Given the description of an element on the screen output the (x, y) to click on. 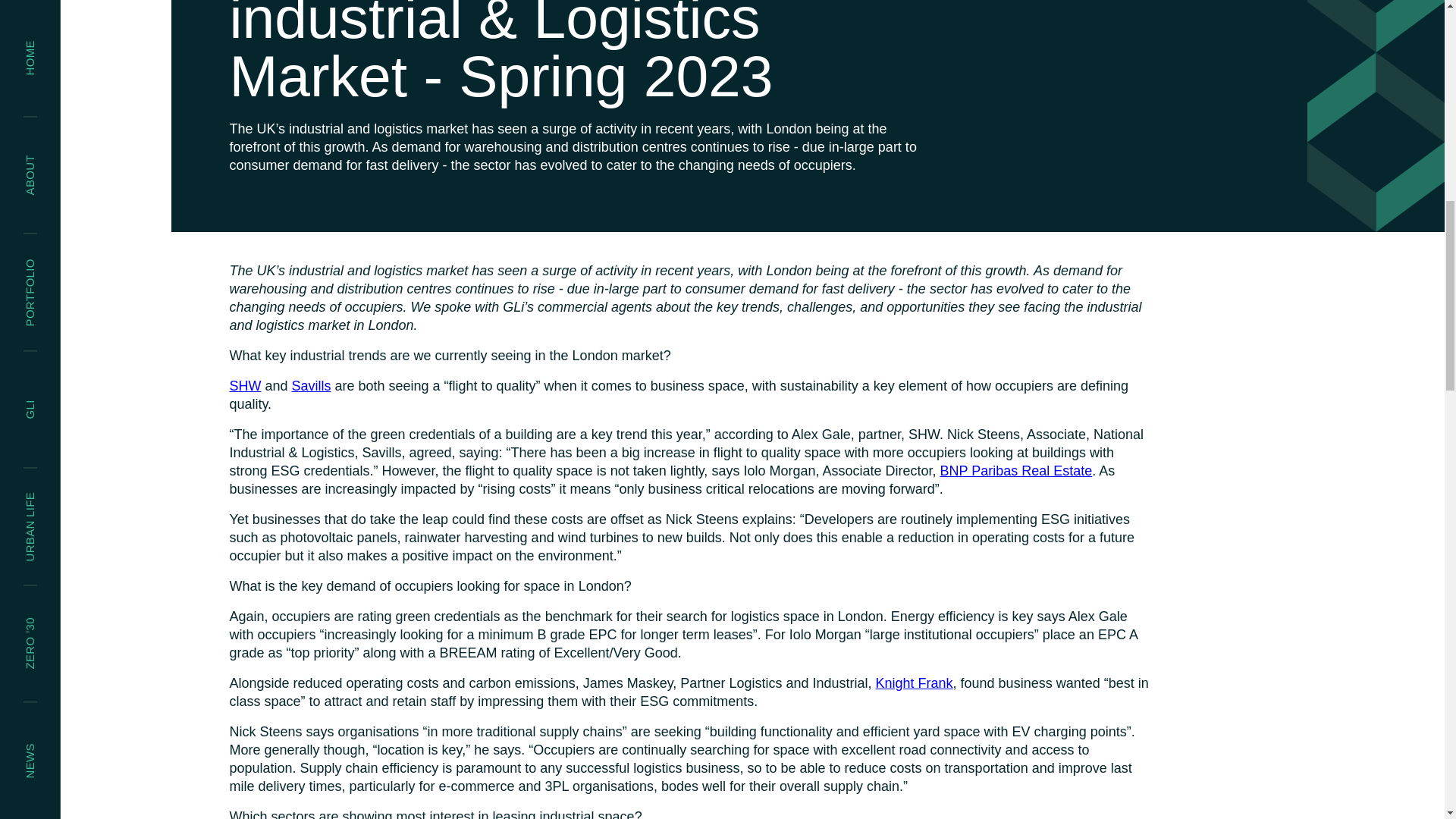
Savills (310, 385)
SHW (244, 385)
Knight Frank (913, 683)
BNP Paribas Real Estate (1016, 470)
